Given the description of an element on the screen output the (x, y) to click on. 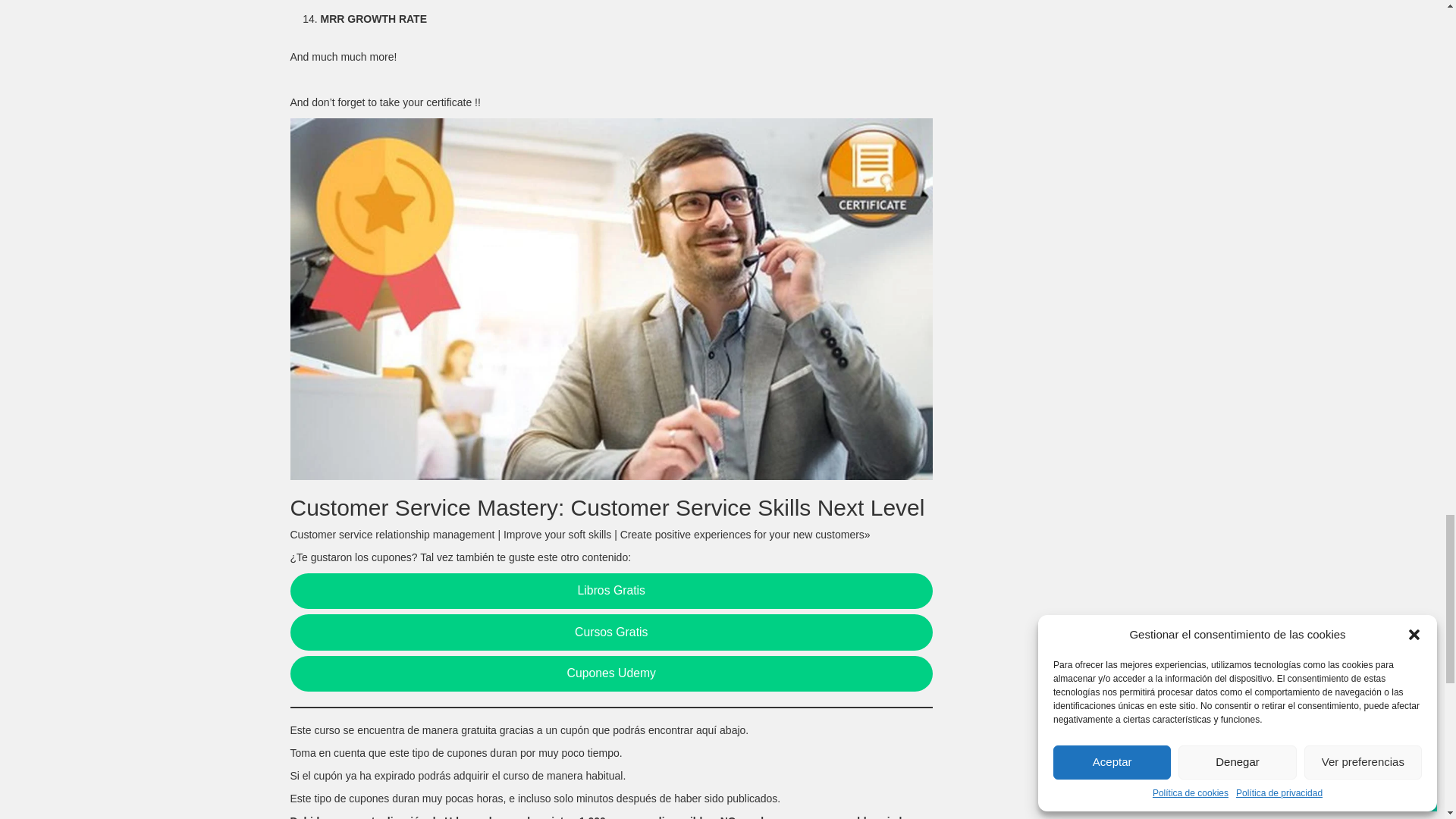
Cursos Gratis (611, 632)
Cupones Udemy (611, 673)
Libros Gratis (611, 591)
